Given the description of an element on the screen output the (x, y) to click on. 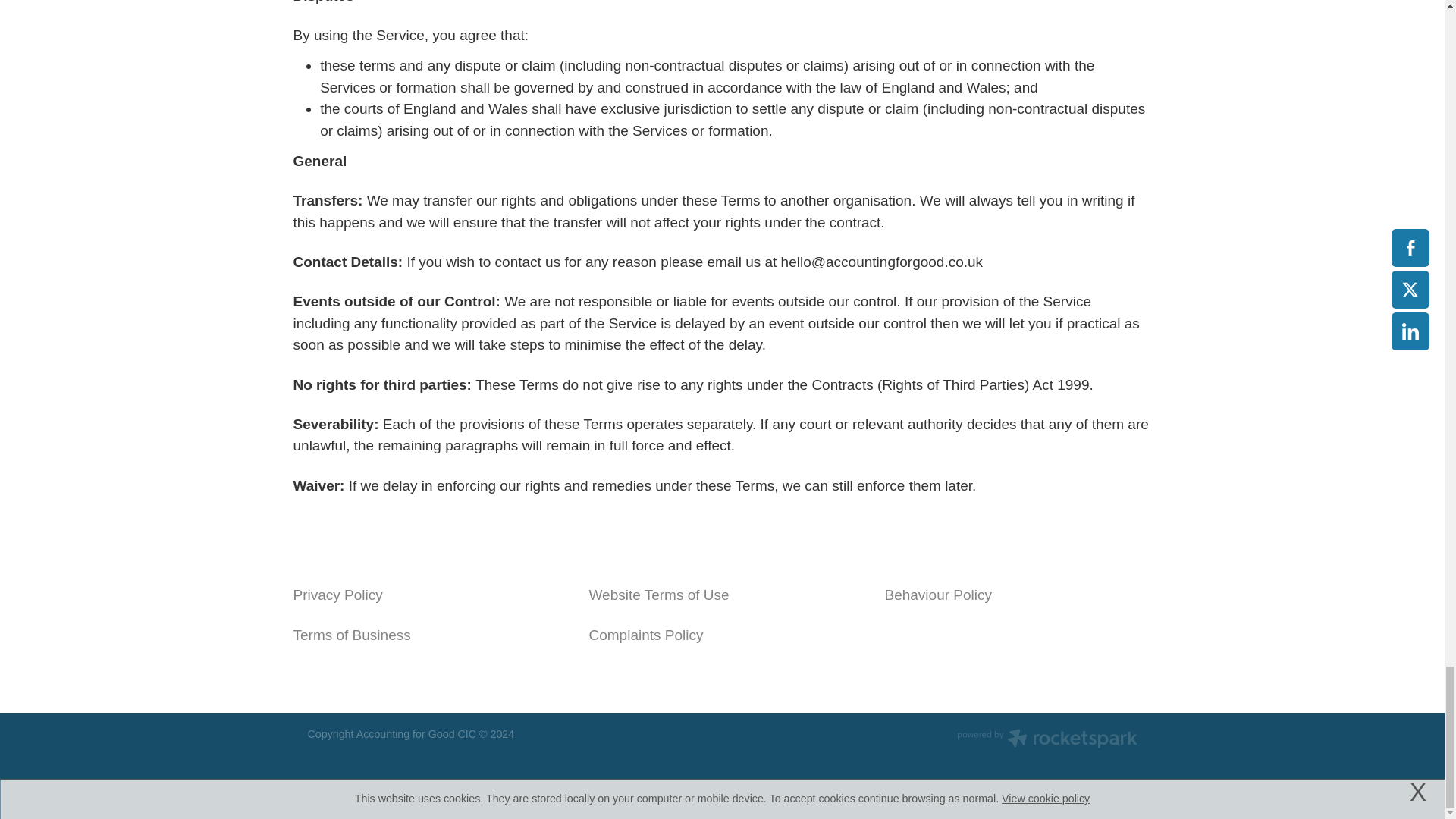
Behaviour Policy (937, 594)
Privacy Policy (336, 594)
Website Terms of Use (658, 594)
Rocketspark website builder (1046, 740)
Complaints Policy (645, 634)
Terms of Business (351, 634)
